Given the description of an element on the screen output the (x, y) to click on. 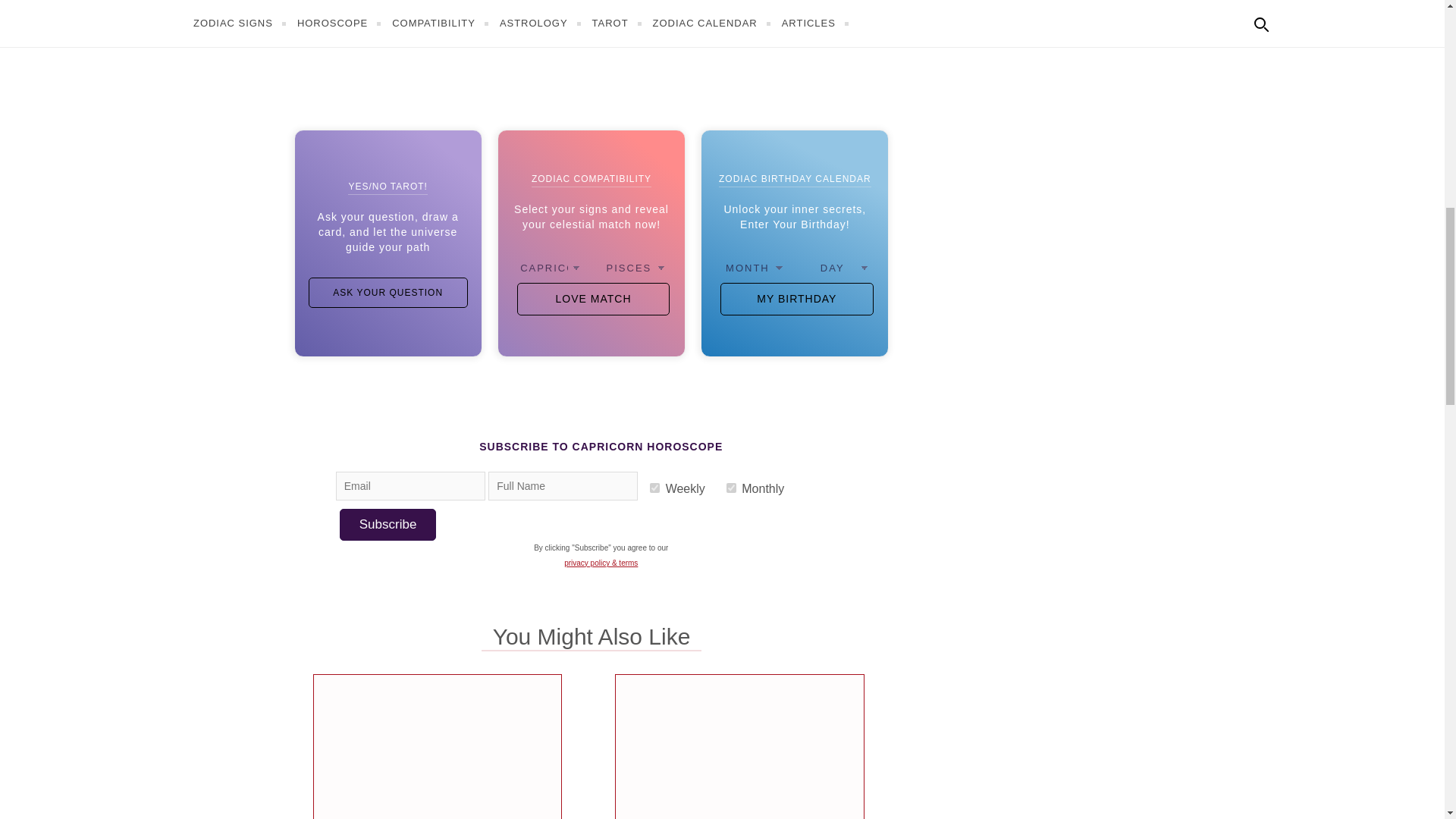
weekly (654, 488)
monthly (731, 488)
